Given the description of an element on the screen output the (x, y) to click on. 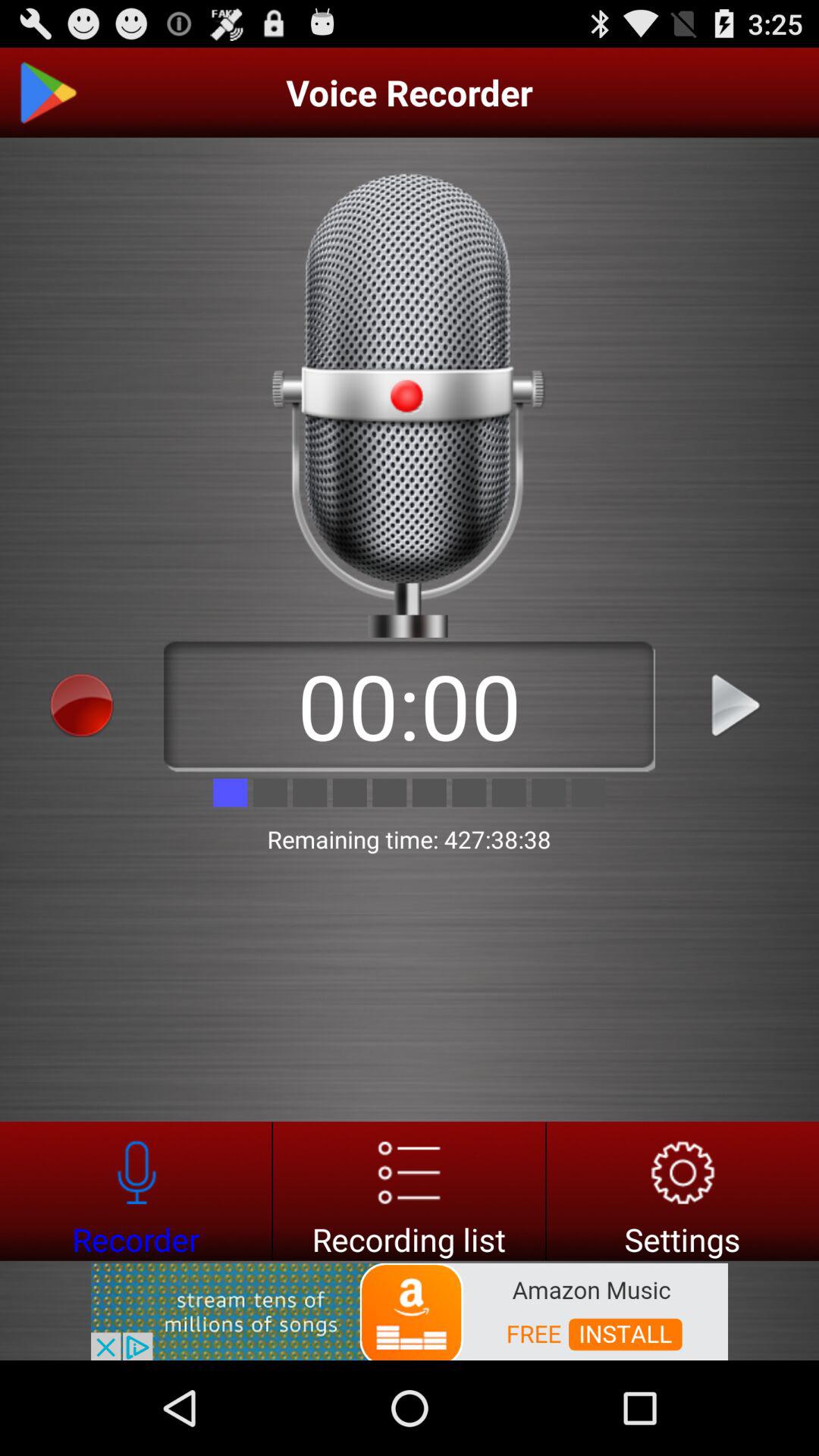
play (737, 705)
